Given the description of an element on the screen output the (x, y) to click on. 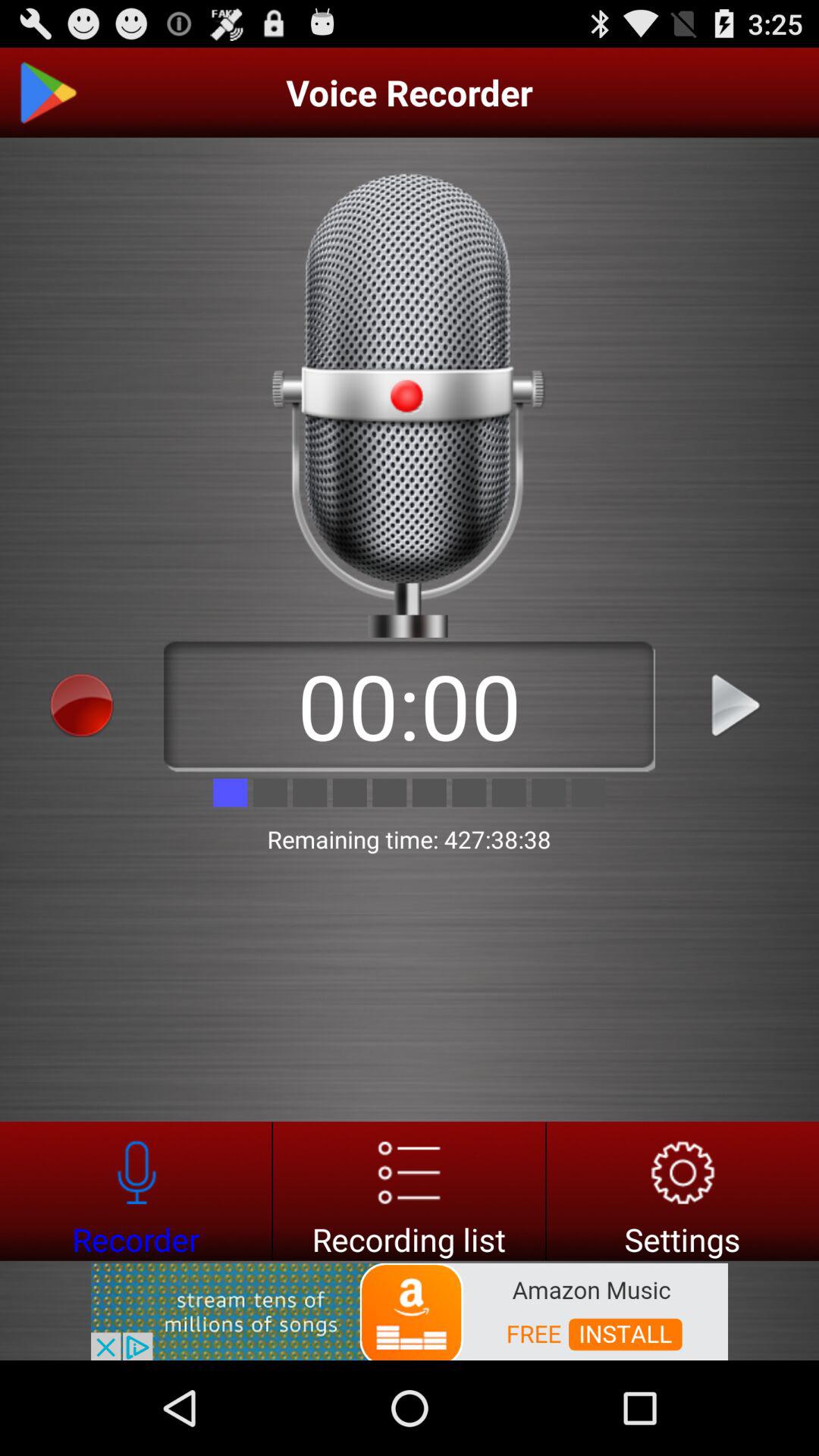
play (737, 705)
